Given the description of an element on the screen output the (x, y) to click on. 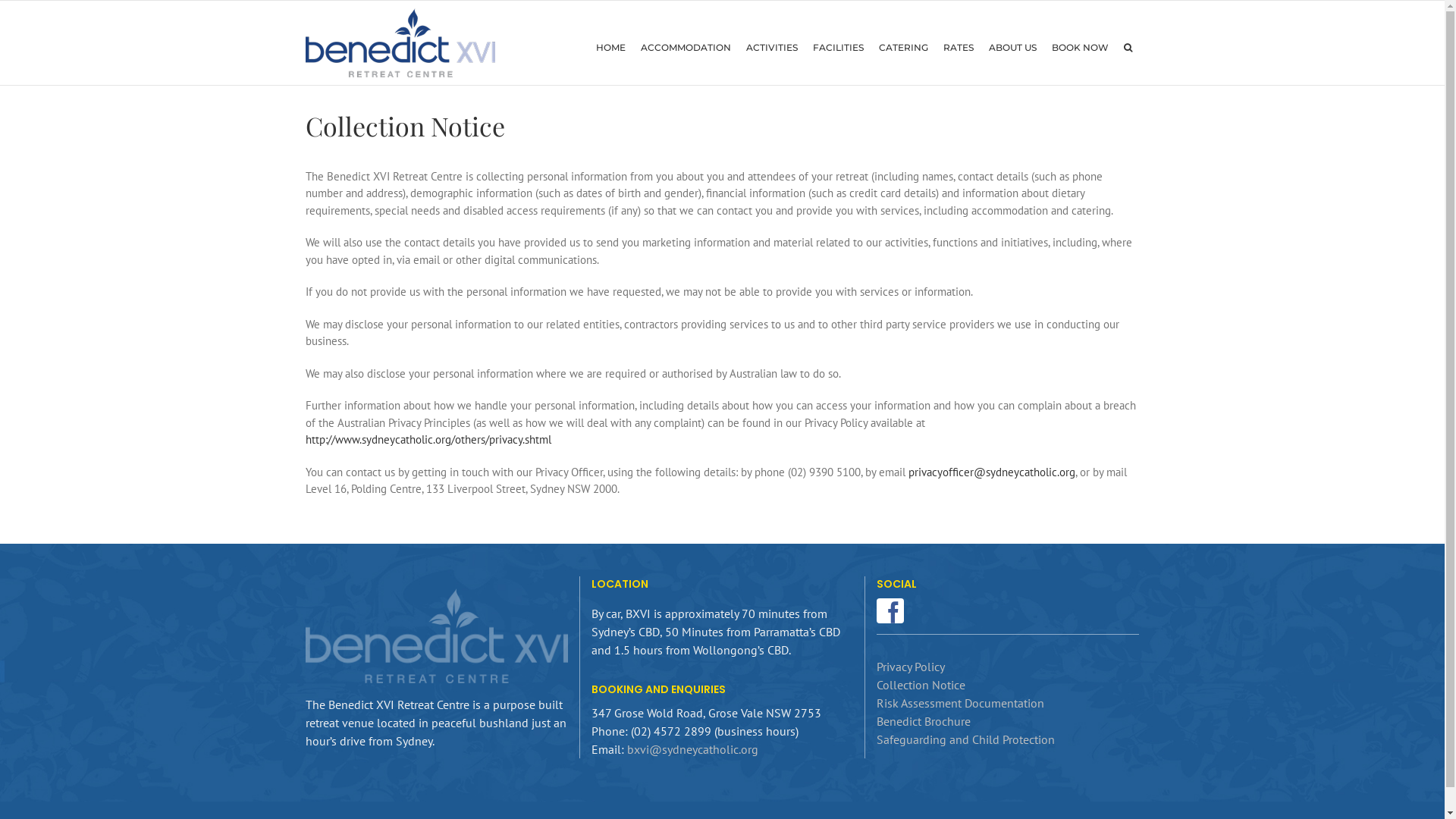
Risk Assessment Documentation Element type: text (960, 702)
ABOUT US Element type: text (1012, 47)
Safeguarding and Child Protection Element type: text (965, 738)
Search Element type: hover (1127, 47)
FACILITIES Element type: text (838, 47)
privacyofficer@sydneycatholic.org Element type: text (991, 471)
HOME Element type: text (610, 47)
ACTIVITIES Element type: text (771, 47)
Benedict Brochure Element type: text (923, 720)
bxvi@sydneycatholic.org Element type: text (692, 748)
RATES Element type: text (958, 47)
ACCOMMODATION Element type: text (684, 47)
Privacy Policy Element type: text (910, 666)
BOOK NOW Element type: text (1079, 47)
CATERING Element type: text (902, 47)
http://www.sydneycatholic.org/others/privacy.shtml Element type: text (427, 439)
Collection Notice Element type: text (920, 684)
